Given the description of an element on the screen output the (x, y) to click on. 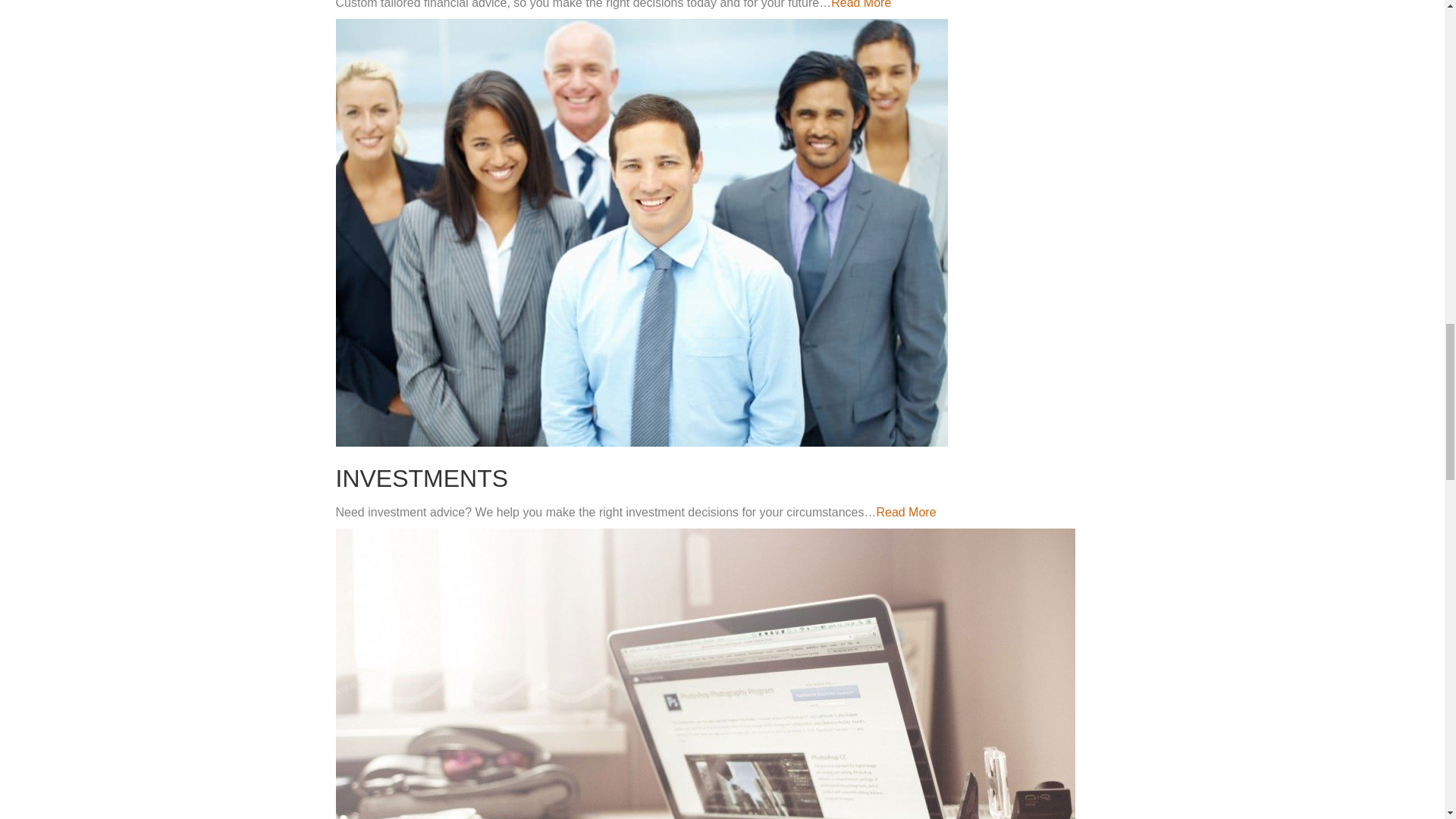
INVESTMENTS (421, 478)
Read More (861, 4)
Read More (906, 512)
